Given the description of an element on the screen output the (x, y) to click on. 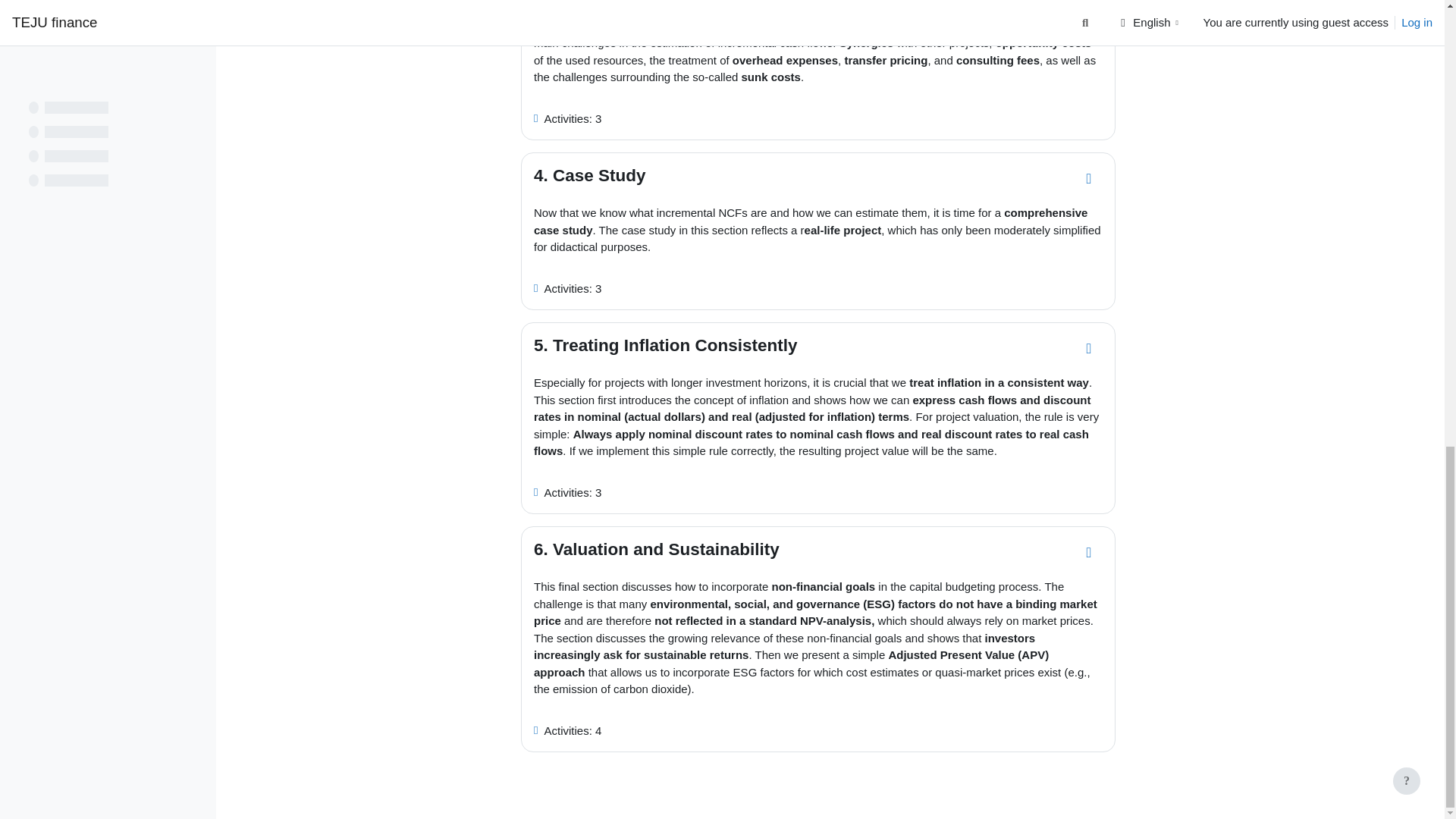
Go to section 6. Valuation and Sustainability (1088, 552)
6. Valuation and Sustainability (656, 548)
4. Case Study (590, 175)
5. Treating Inflation Consistently (665, 344)
Go to section 5. Treating Inflation Consistently (1088, 348)
Go to section 6. Valuation and Sustainability (1088, 552)
Go to section 4. Case Study (1088, 178)
Go to section 5. Treating Inflation Consistently (1088, 348)
Go to section 4. Case Study (1088, 178)
